Given the description of an element on the screen output the (x, y) to click on. 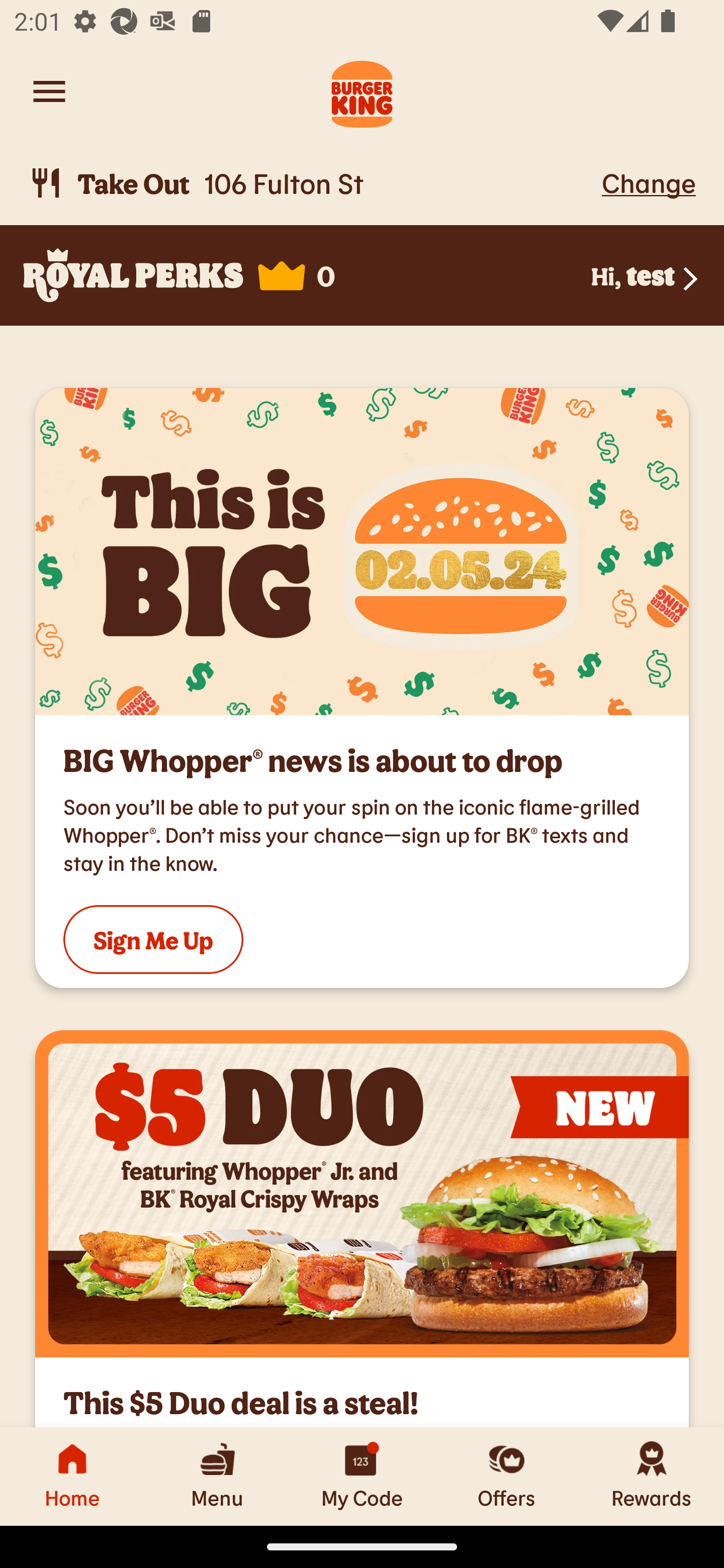
Burger King Logo. Navigate to Home (362, 91)
Navigate to account menu  (49, 91)
Take Out, 106 Fulton St  Take Out 106 Fulton St (311, 183)
Change (648, 182)
MDW Teaser Auth App (361, 551)
Sign Me Up (153, 938)
$5 Duo ft. Wraps  (361, 1193)
Home (72, 1475)
Menu (216, 1475)
My Code (361, 1475)
Offers (506, 1475)
Rewards (651, 1475)
